Given the description of an element on the screen output the (x, y) to click on. 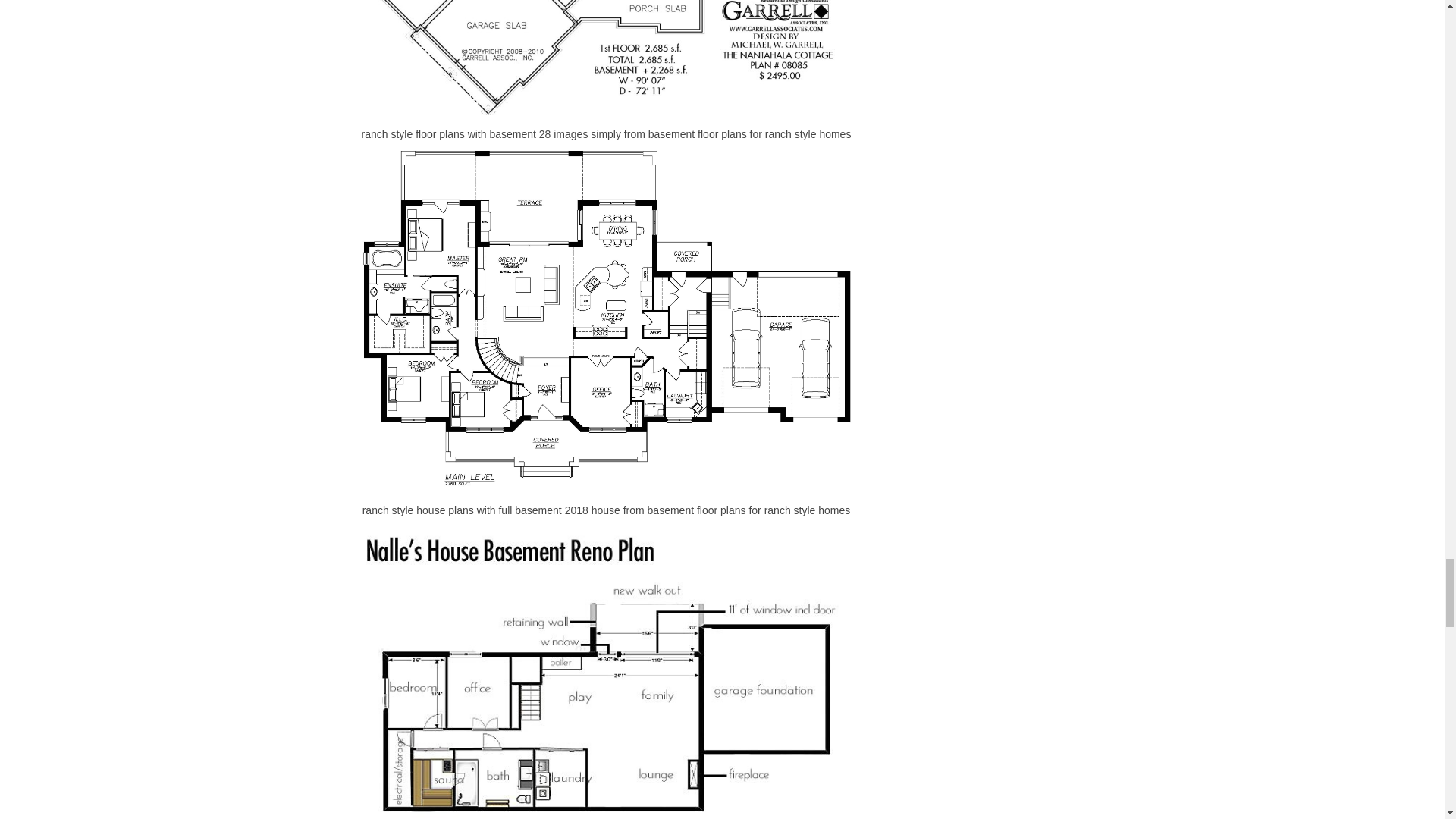
ranch style floor plans with basement 28 images simply (607, 57)
